Given the description of an element on the screen output the (x, y) to click on. 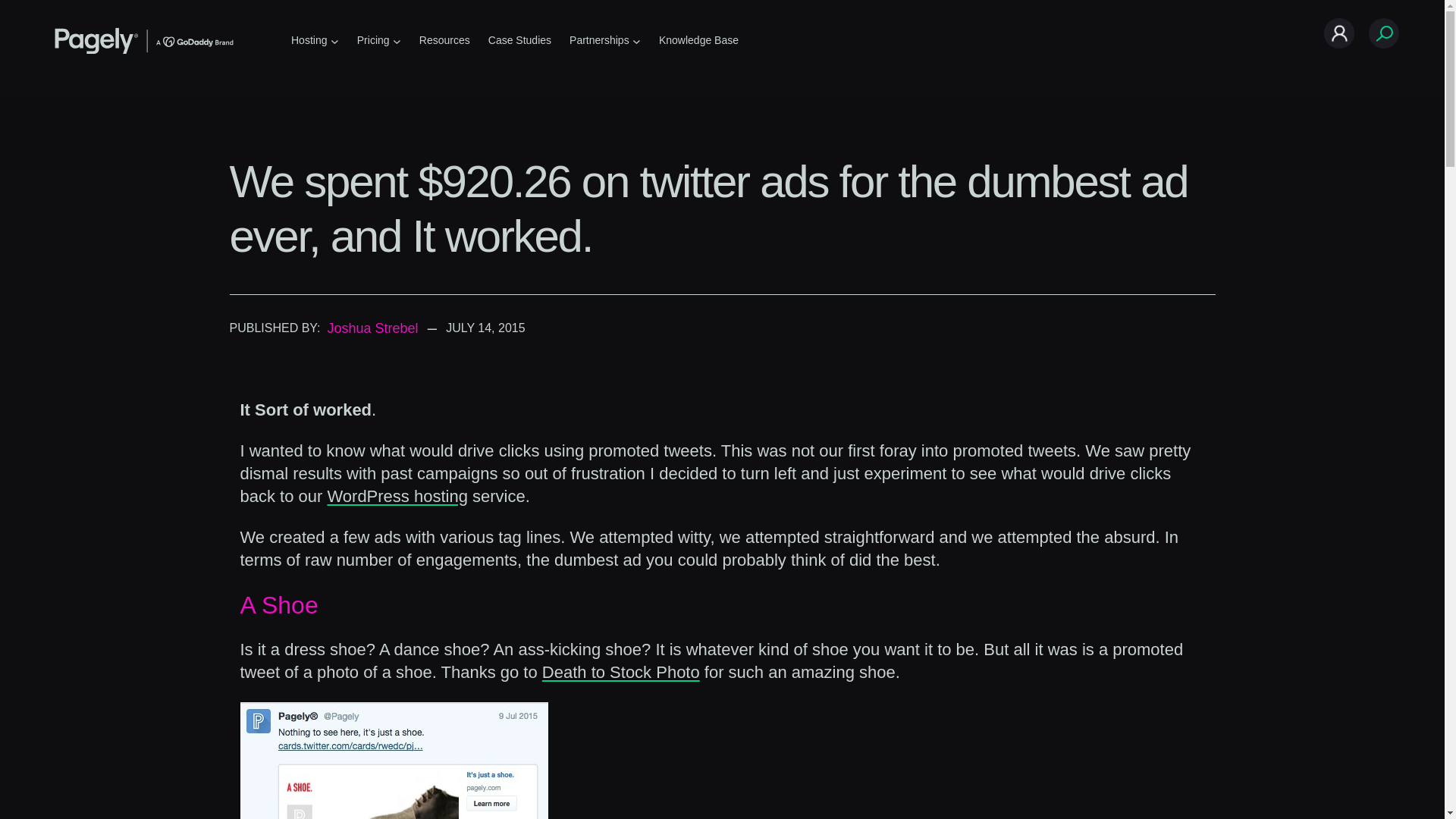
Partnerships (598, 40)
Resources (444, 40)
Resources (444, 40)
Pricing (373, 40)
Case Studies (519, 40)
Knowledge Base (698, 40)
Hosting (308, 40)
Case Studies (519, 40)
Pricing (373, 40)
solutions (308, 40)
